Given the description of an element on the screen output the (x, y) to click on. 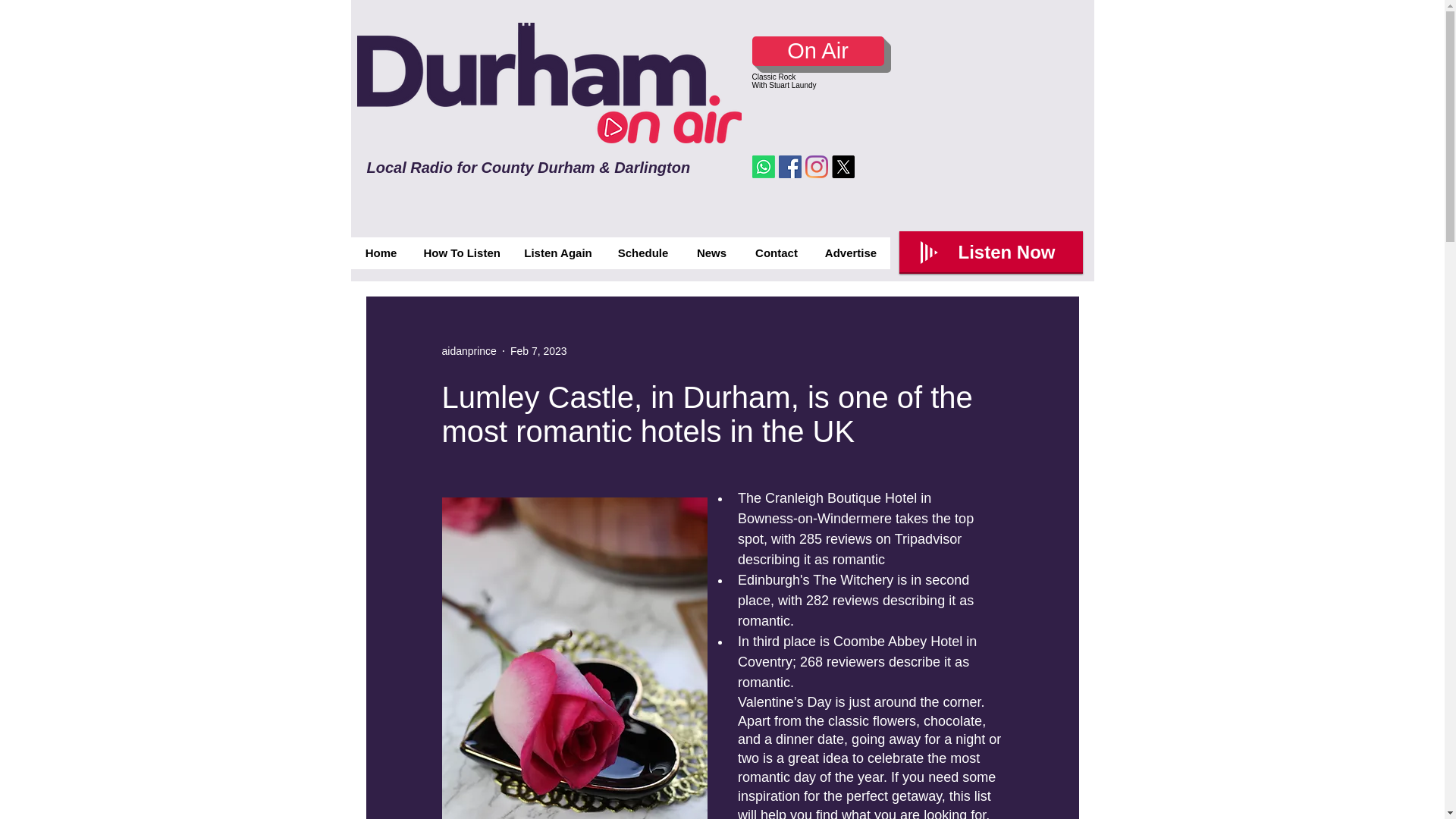
Home (380, 253)
Contact (775, 253)
Feb 7, 2023 (539, 349)
Listen Now (991, 251)
Listen Again (557, 253)
Advertise (849, 253)
aidanprince (468, 350)
On Air (817, 51)
Open Radioplayer (991, 251)
How To Listen (460, 253)
